Given the description of an element on the screen output the (x, y) to click on. 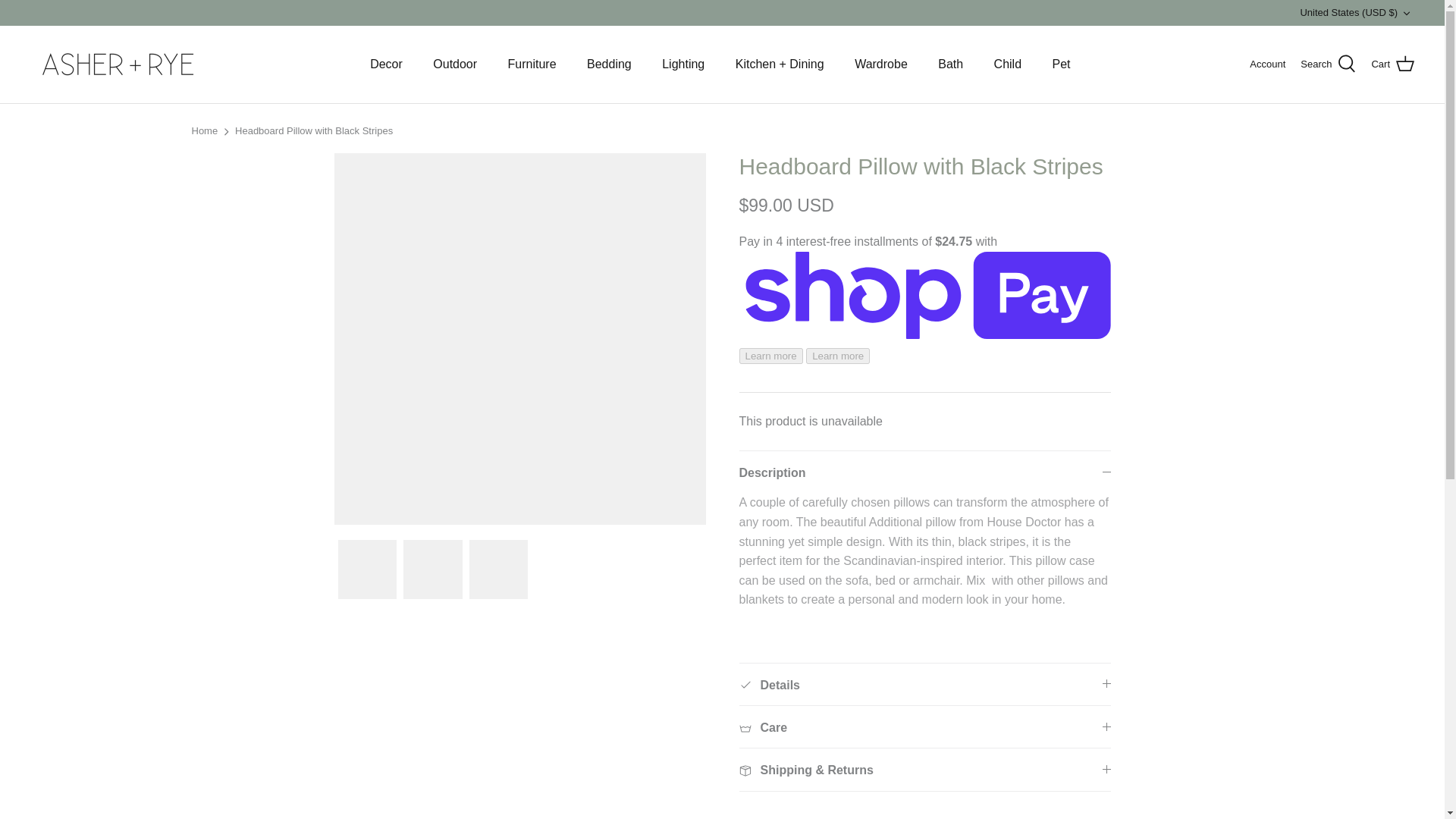
Bath (950, 64)
Account (1267, 64)
Bedding (609, 64)
Decor (386, 64)
Furniture (532, 64)
Outdoor (454, 64)
Child (1007, 64)
Search (1327, 64)
Wardrobe (881, 64)
Lighting (682, 64)
